Given the description of an element on the screen output the (x, y) to click on. 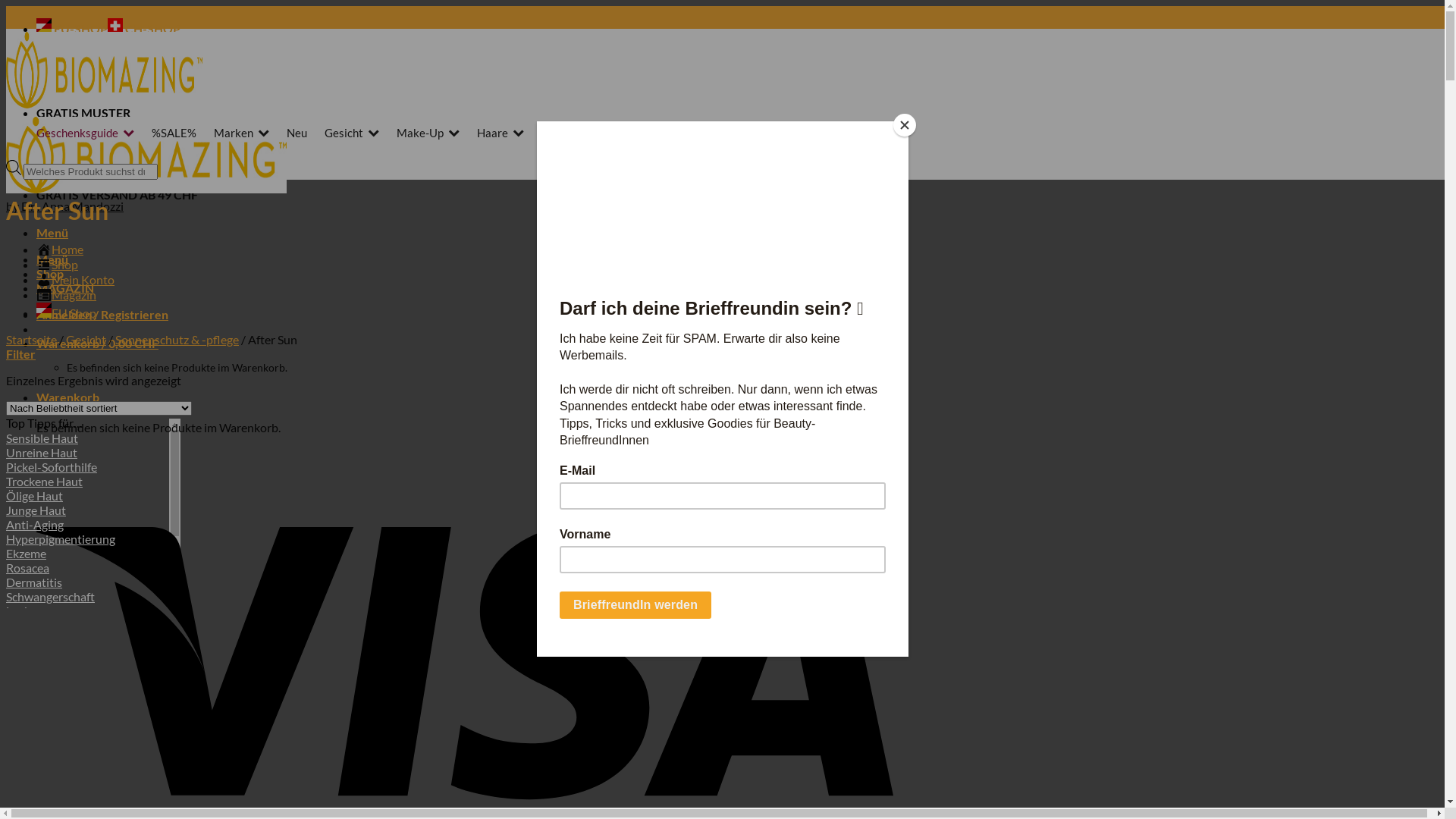
MAGAZIN Element type: text (65, 287)
Anti-Aging Element type: text (34, 524)
Shop Element type: text (49, 273)
Junge Haut Element type: text (35, 509)
Magazin Element type: text (73, 294)
Sensible Haut Element type: text (42, 437)
Masken Element type: text (26, 682)
Anmelden / Registrieren Element type: text (102, 314)
Schwangerschaft Element type: text (50, 596)
CH-SHOP Element type: text (143, 28)
Konzentration Element type: text (44, 697)
Make-Up Element type: text (427, 132)
EU-SHOP Element type: text (71, 28)
Vitalpilze Element type: text (30, 653)
%SALE% Element type: text (173, 132)
Pickel-Soforthilfe Element type: text (51, 466)
Trockene Haut Element type: text (44, 480)
Well-Being Element type: text (645, 132)
Filter Element type: text (20, 353)
Geschenksguide Element type: text (85, 132)
Intim & Liebe Element type: text (40, 668)
Gesicht Element type: text (85, 339)
EU Shop Element type: text (73, 312)
Gesicht Element type: text (351, 132)
Locken Element type: text (24, 610)
Marken Element type: text (241, 132)
Warenkorb / 0,00 CHF Element type: text (97, 342)
Unreine Haut Element type: text (41, 452)
Startseite Element type: text (31, 339)
Stress Element type: text (21, 625)
anmelden, um deine BIO-Punkte zu sehen! Element type: text (151, 138)
Home Element type: text (67, 248)
Hyperpigmentierung Element type: text (60, 538)
Sonnenschutz & -pflege Element type: text (176, 339)
by Dr . Anna Mandozzi Element type: text (64, 205)
Warum BIOMAZING? Element type: text (763, 132)
Schlafprobleme Element type: text (46, 639)
Haare Element type: text (500, 132)
Shop Element type: text (64, 264)
Skip to content Element type: text (5, 5)
Mein Konto Element type: text (82, 279)
Products search Element type: text (728, 169)
Ekzeme Element type: text (26, 553)
Neu Element type: text (296, 132)
Rosacea Element type: text (27, 567)
Dermatitis Element type: text (34, 581)
